Given the description of an element on the screen output the (x, y) to click on. 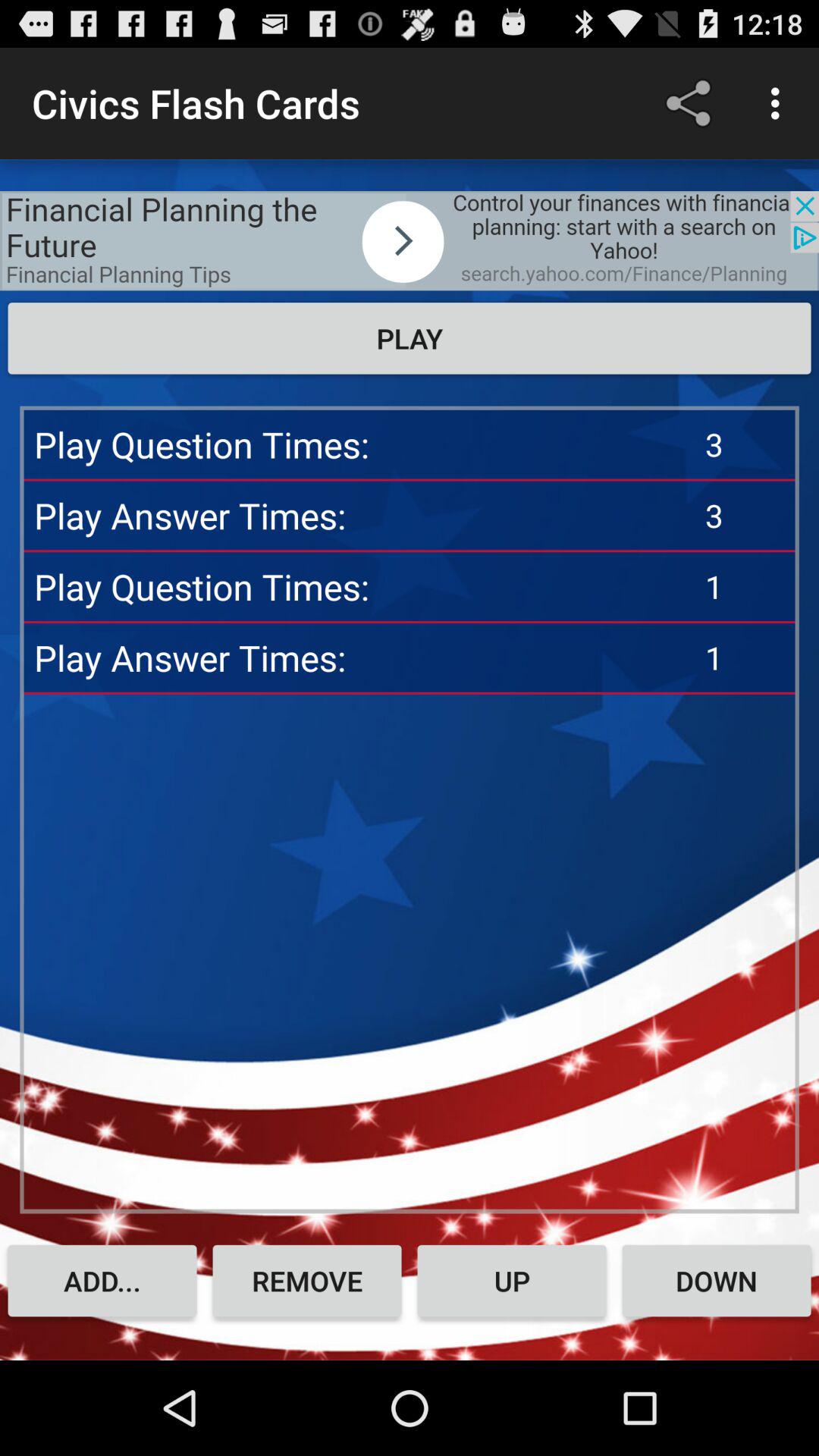
advertisement link banner (409, 240)
